Given the description of an element on the screen output the (x, y) to click on. 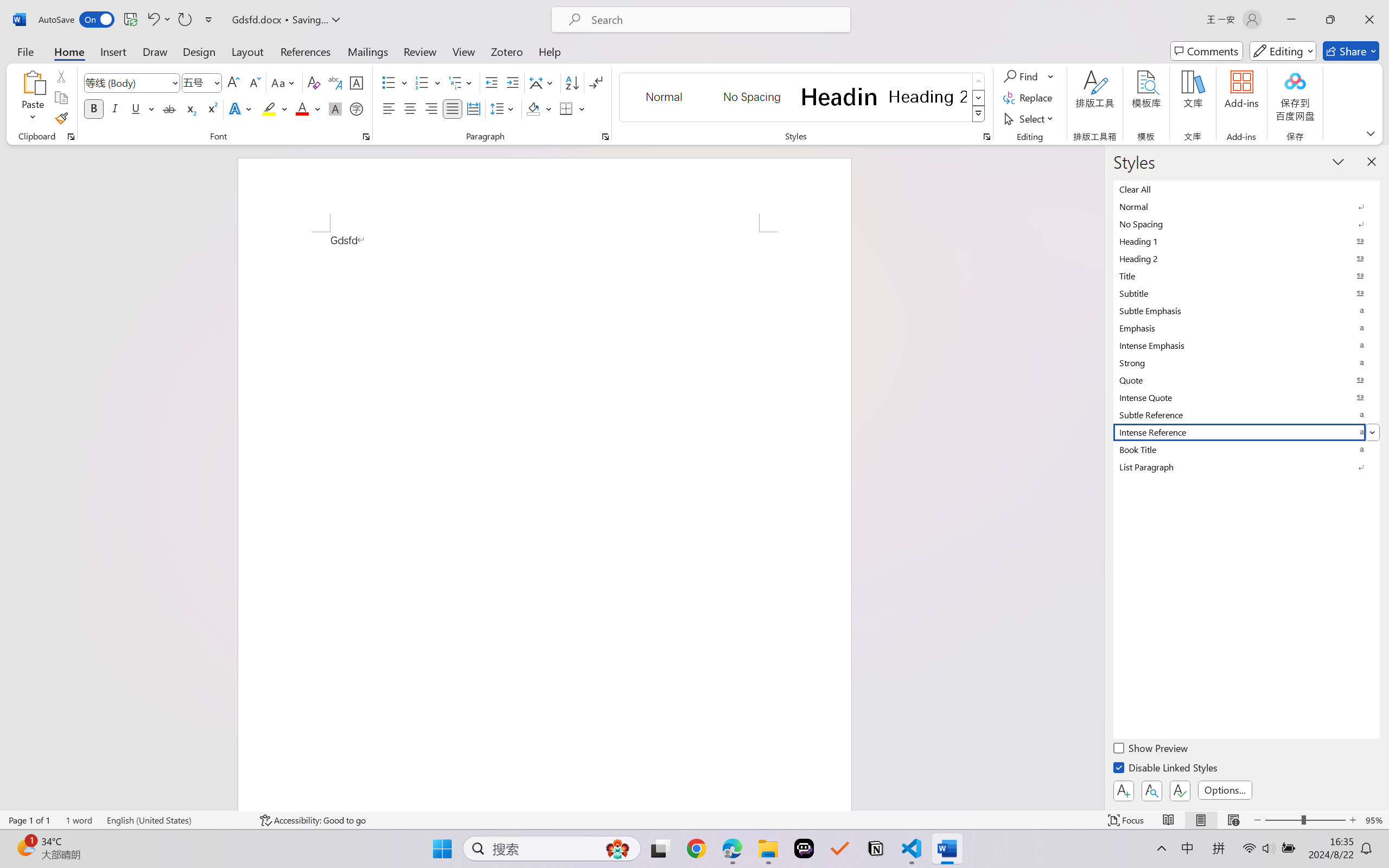
Copy (60, 97)
Clear Formatting (313, 82)
Zoom 95% (1374, 819)
Office Clipboard... (70, 136)
Phonetic Guide... (334, 82)
Character Shading (334, 108)
Shading RGB(0, 0, 0) (533, 108)
Intense Quote (1246, 397)
Line and Paragraph Spacing (503, 108)
Styles (978, 113)
Decrease Indent (491, 82)
